Given the description of an element on the screen output the (x, y) to click on. 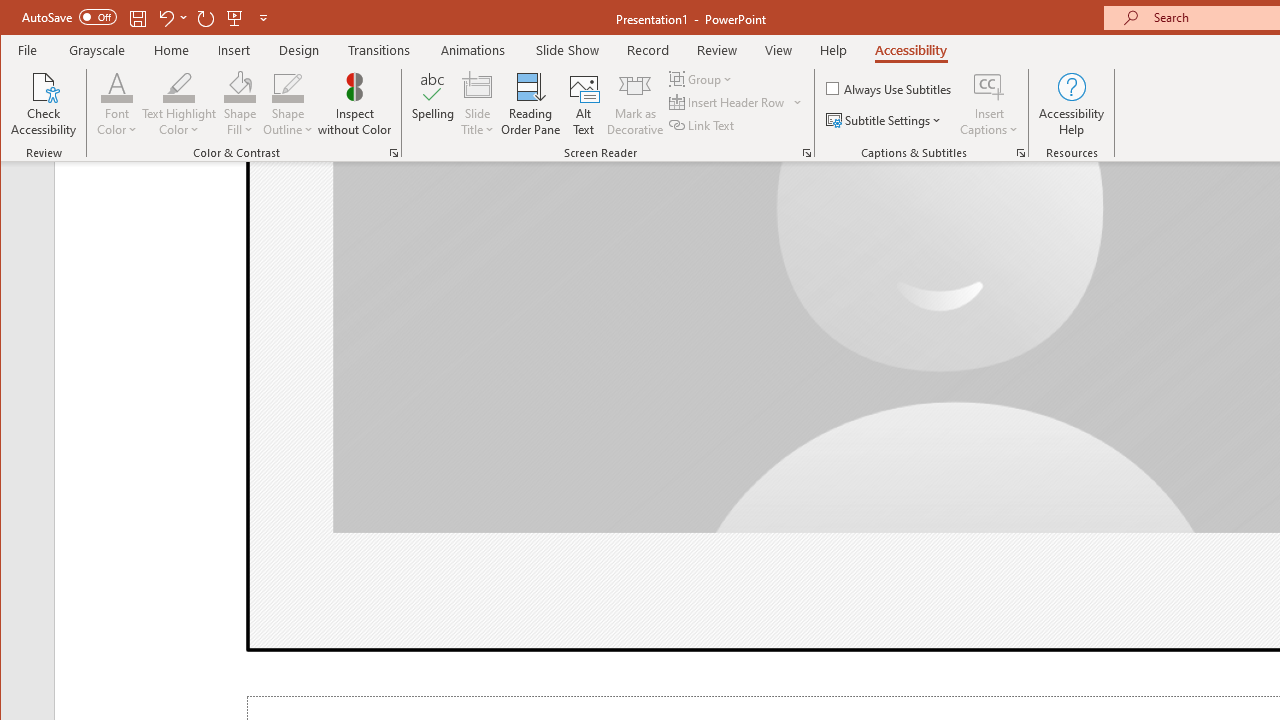
Group (701, 78)
Reading Order Pane (531, 104)
